Given the description of an element on the screen output the (x, y) to click on. 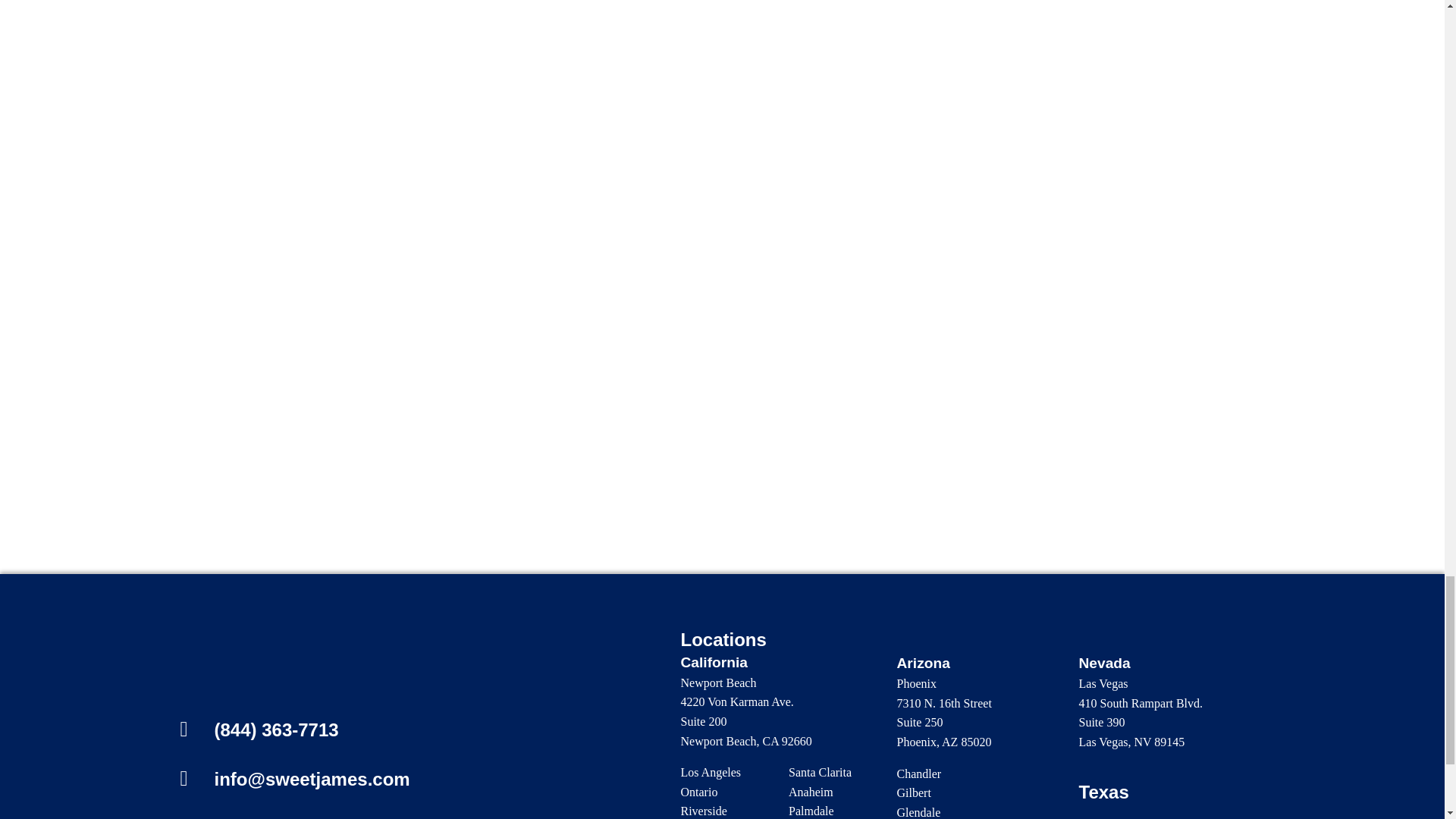
Newport Beach (719, 682)
Las Vegas (1102, 683)
Phoenix (916, 683)
Los Angeles (711, 771)
